Given the description of an element on the screen output the (x, y) to click on. 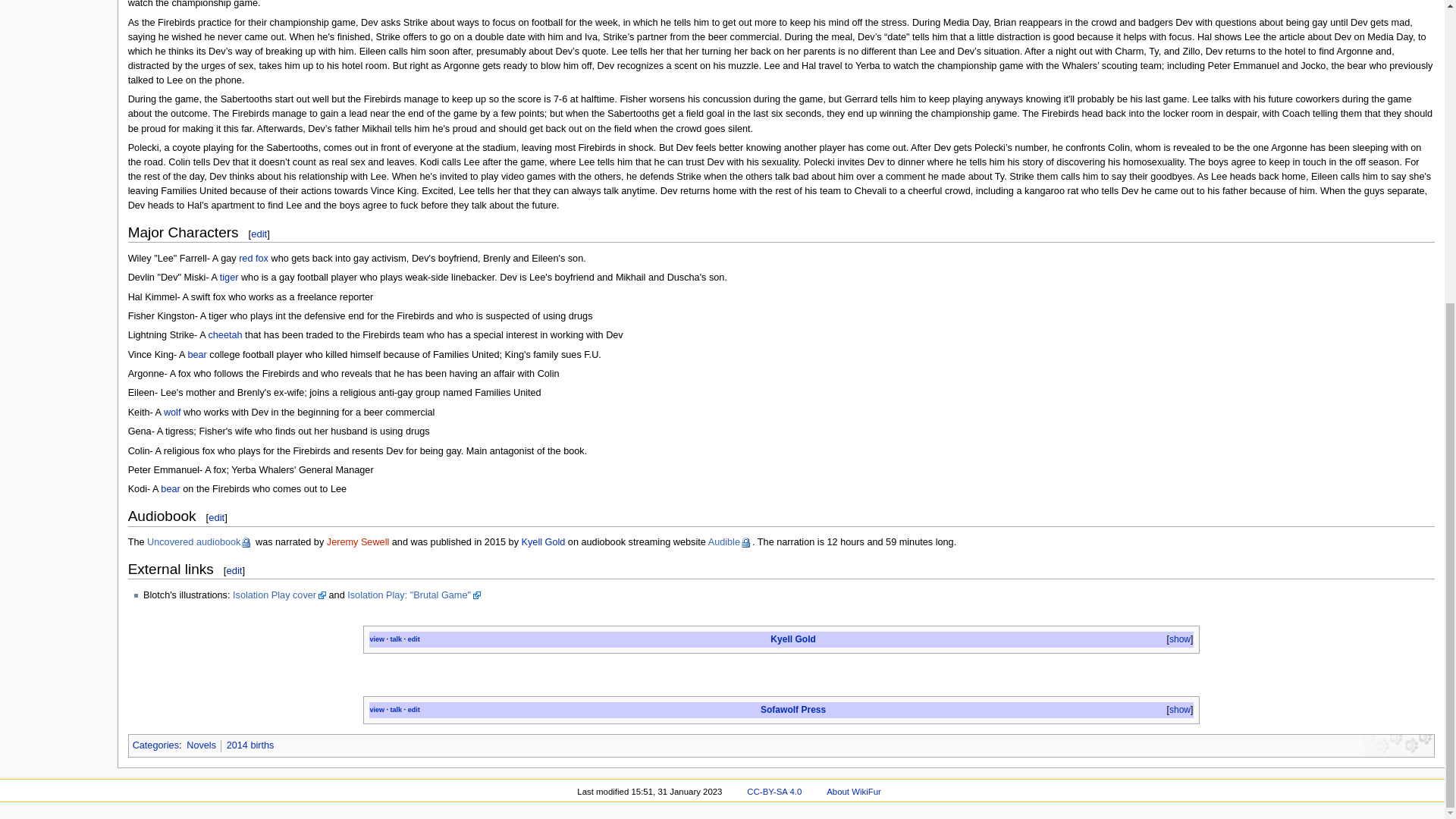
Tiger (228, 276)
edit (413, 638)
Jeremy Sewell (358, 542)
Red fox (252, 258)
edit (258, 233)
bear (169, 489)
wolf (171, 412)
Kyell Gold (543, 542)
Cheetah (224, 335)
tiger (228, 276)
